Given the description of an element on the screen output the (x, y) to click on. 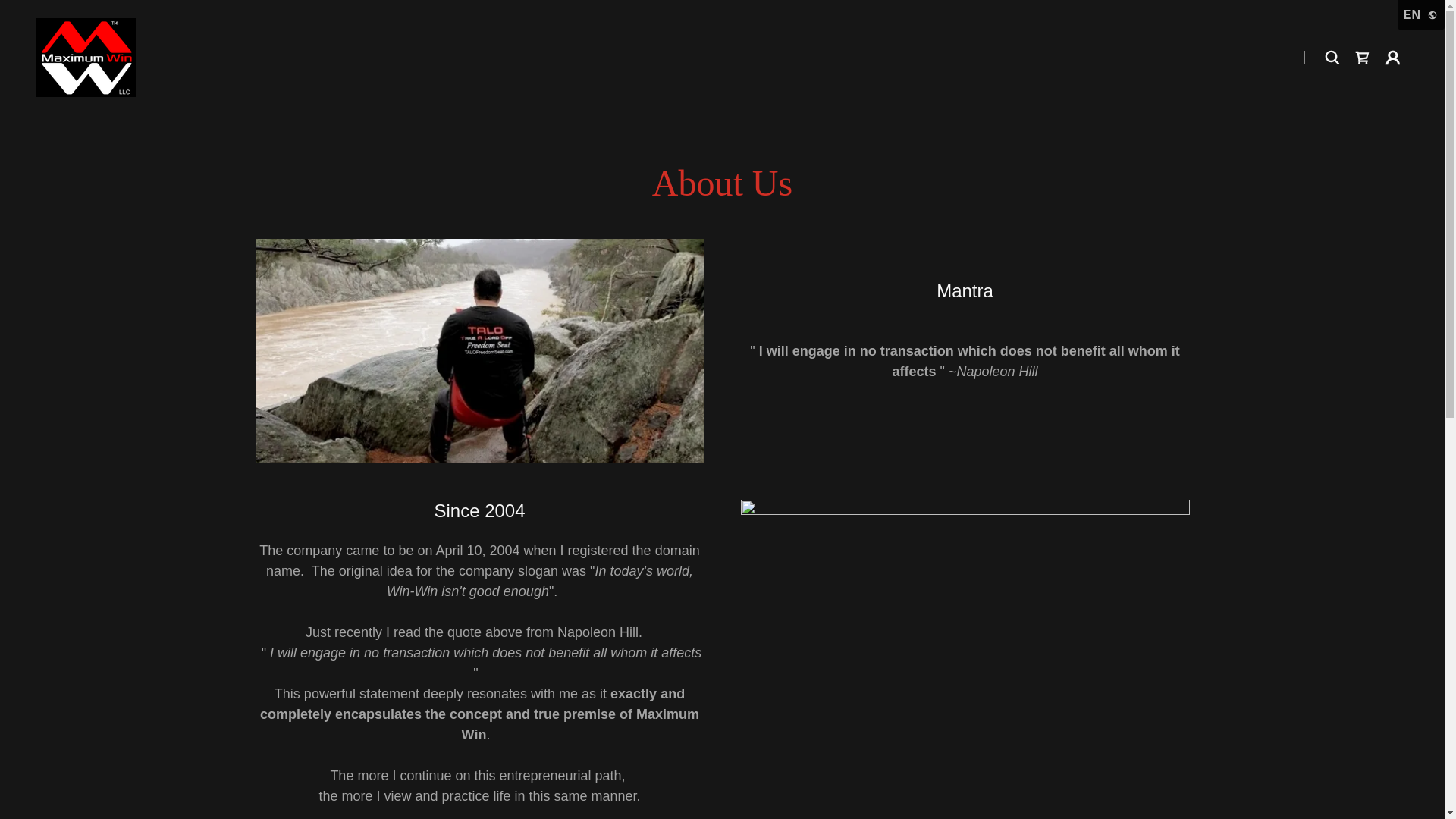
Maximum Win (85, 56)
